Given the description of an element on the screen output the (x, y) to click on. 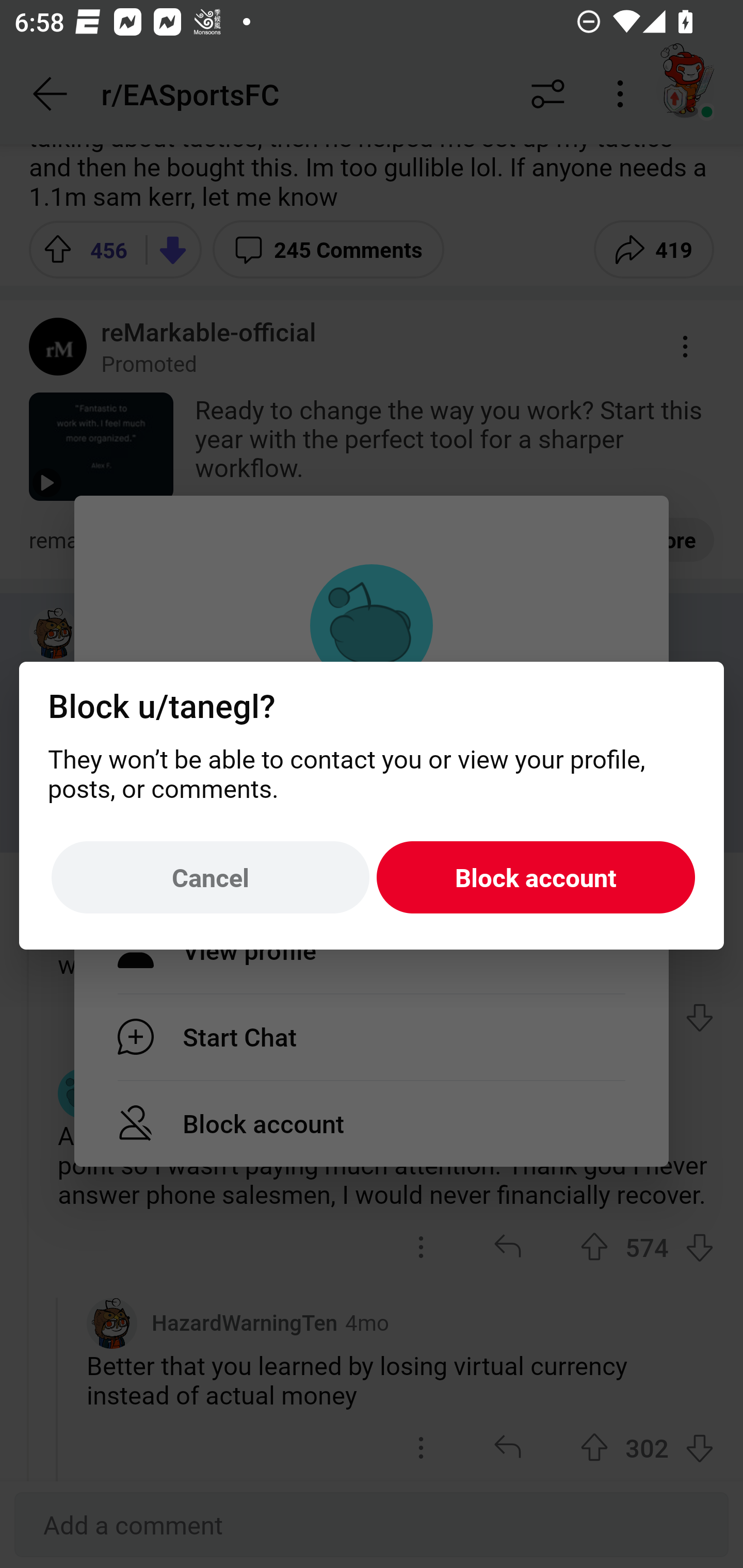
Cancel (210, 878)
Block account (535, 878)
